Given the description of an element on the screen output the (x, y) to click on. 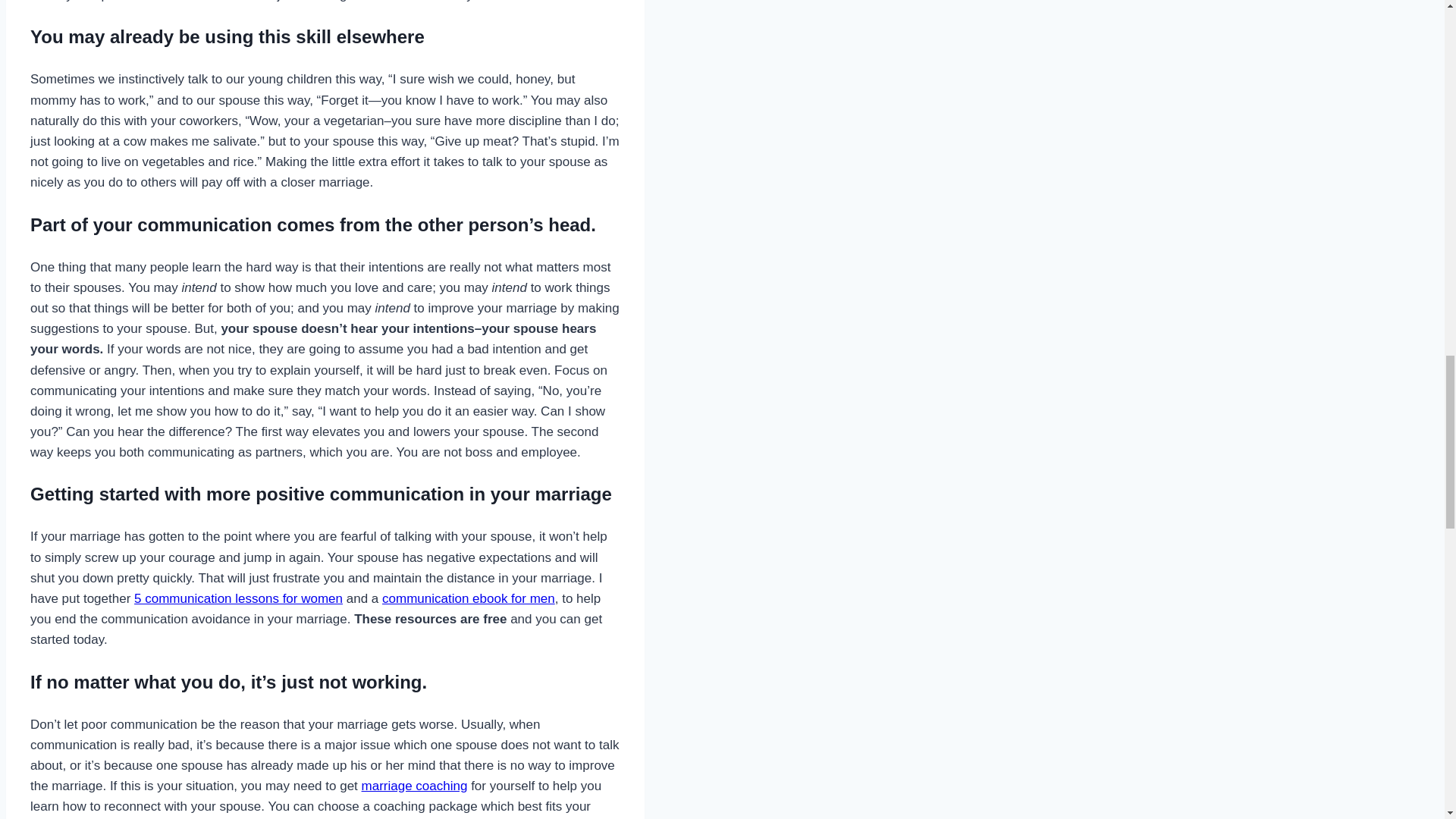
5 communication lessons for women (237, 598)
communication ebook for men (467, 598)
marriage coaching (414, 785)
